Given the description of an element on the screen output the (x, y) to click on. 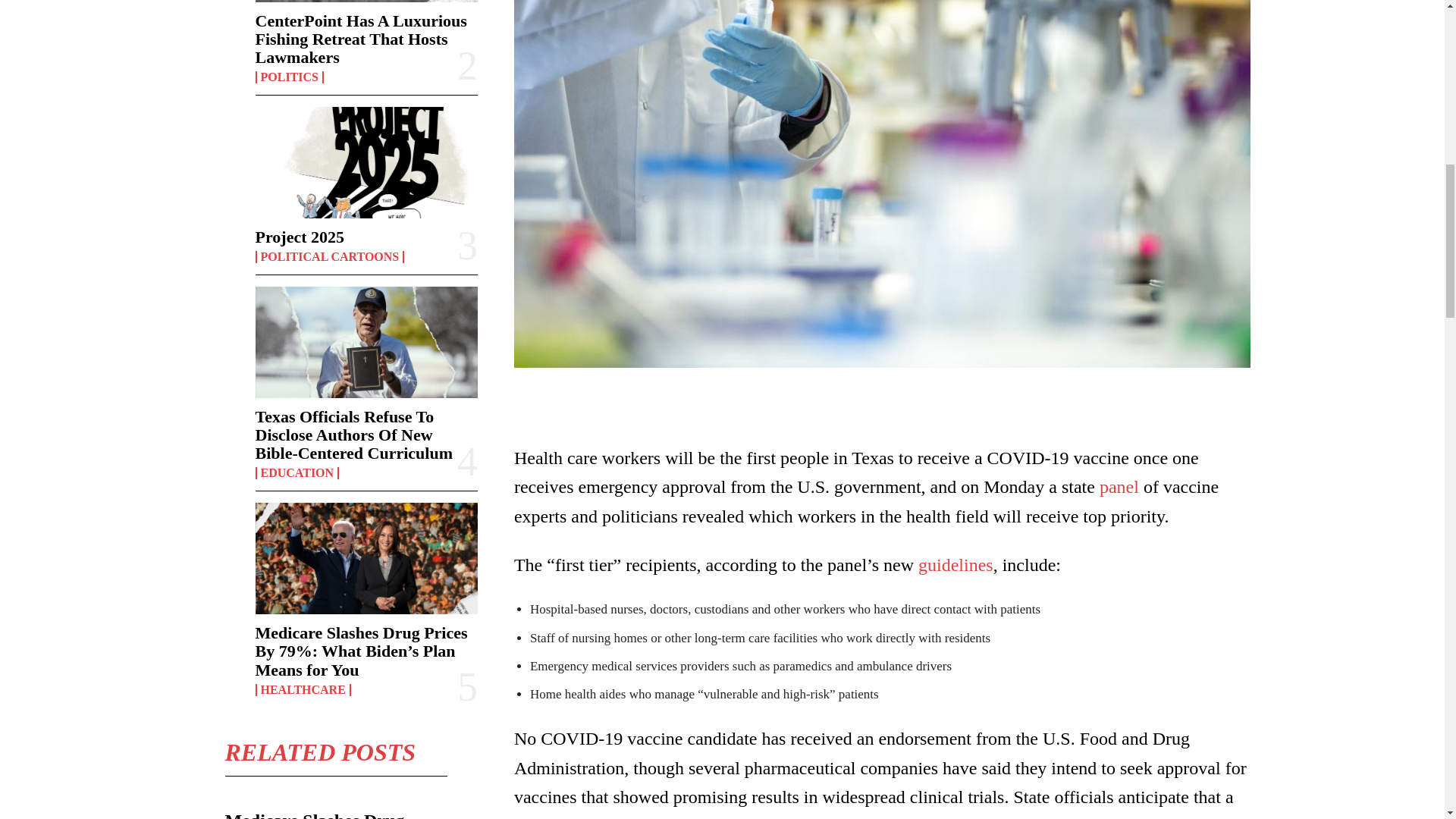
Project 2025 (365, 162)
